Given the description of an element on the screen output the (x, y) to click on. 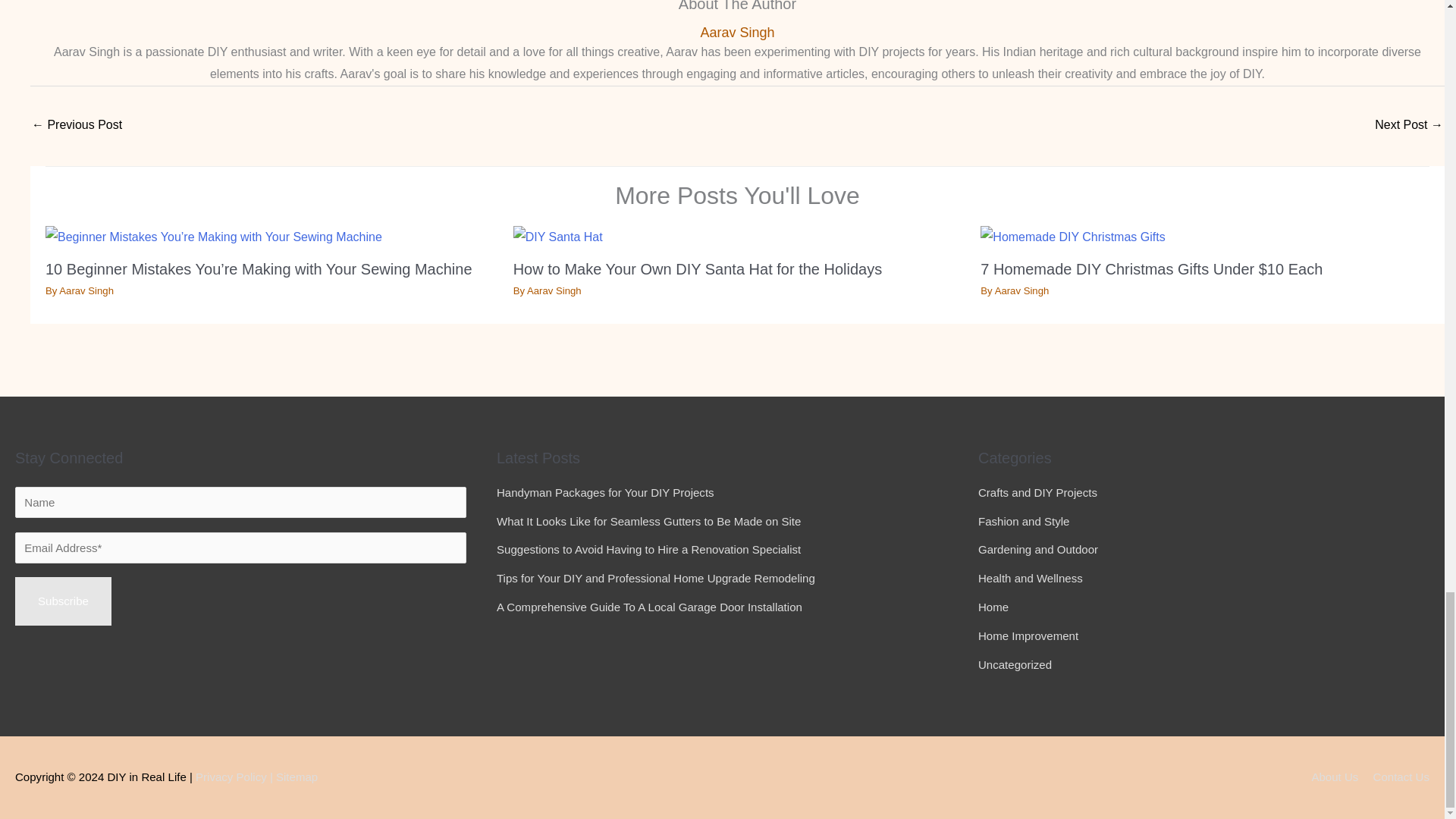
Tips for Your DIY and Professional Home Upgrade Remodeling (655, 577)
Fashion and Style (1023, 521)
Aarav Singh (553, 290)
Aarav Singh (1021, 290)
Suggestions to Avoid Having to Hire a Renovation Specialist (648, 549)
Handyman Packages for Your DIY Projects (605, 492)
Aarav Singh (86, 290)
Subscribe (63, 601)
What It Looks Like for Seamless Gutters to Be Made on Site (648, 521)
How to Make Your Own DIY Santa Hat for the Holidays (697, 269)
Subscribe (63, 601)
Crafts and DIY Projects (1037, 492)
A Comprehensive Guide To A Local Garage Door Installation (649, 606)
